Given the description of an element on the screen output the (x, y) to click on. 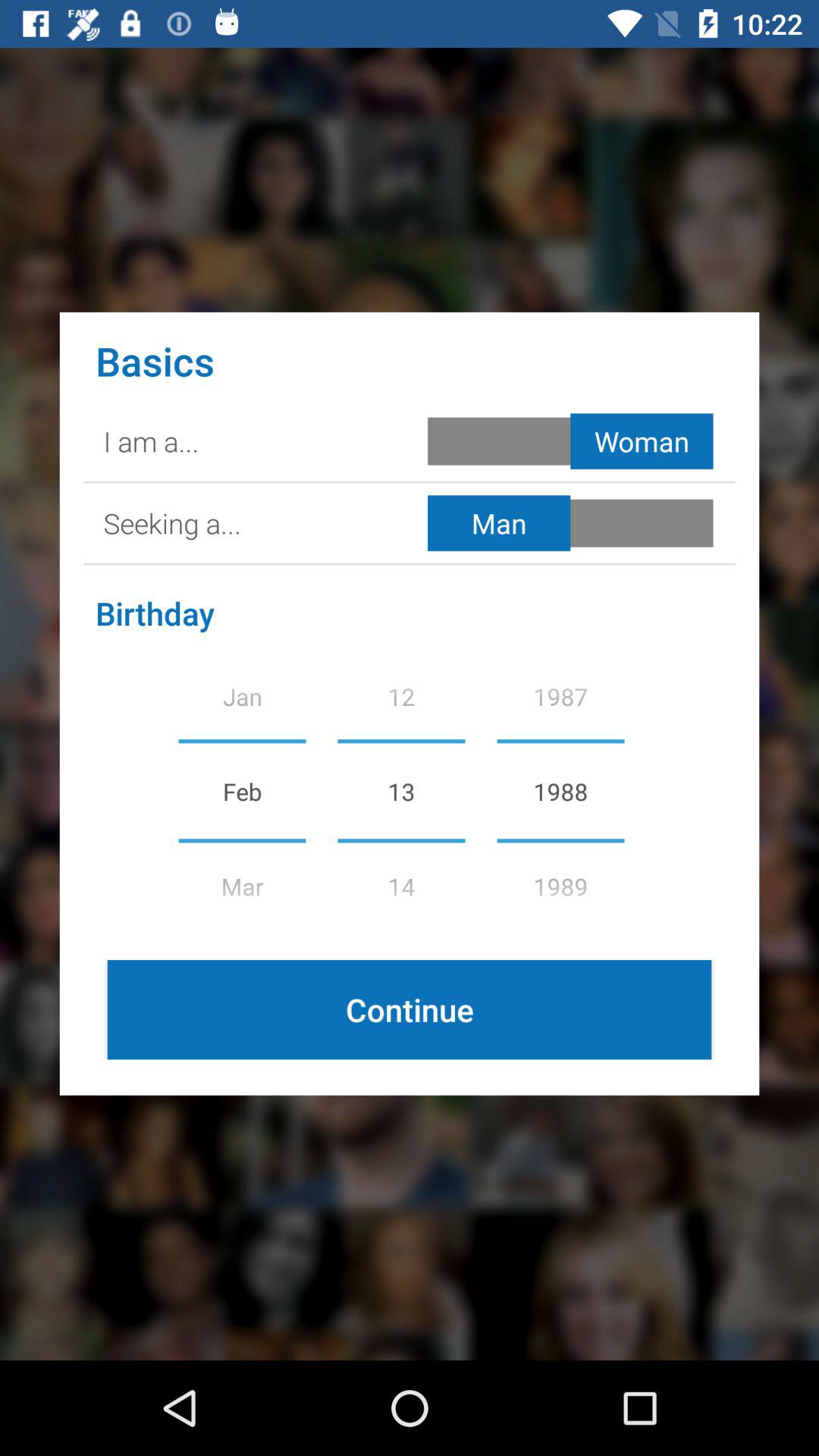
toggle preferred gender option (573, 523)
